Given the description of an element on the screen output the (x, y) to click on. 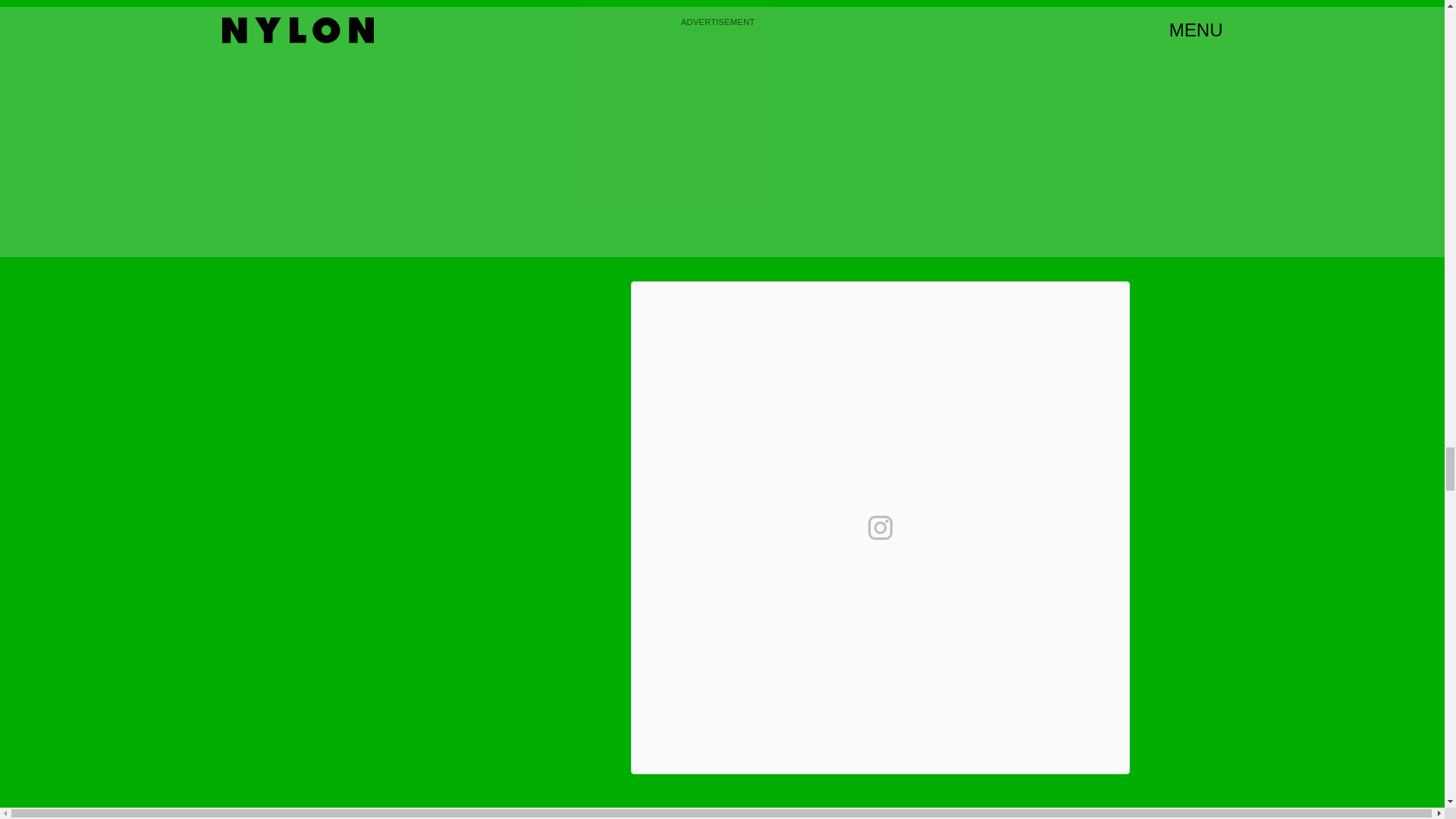
View on Instagram (879, 527)
